Given the description of an element on the screen output the (x, y) to click on. 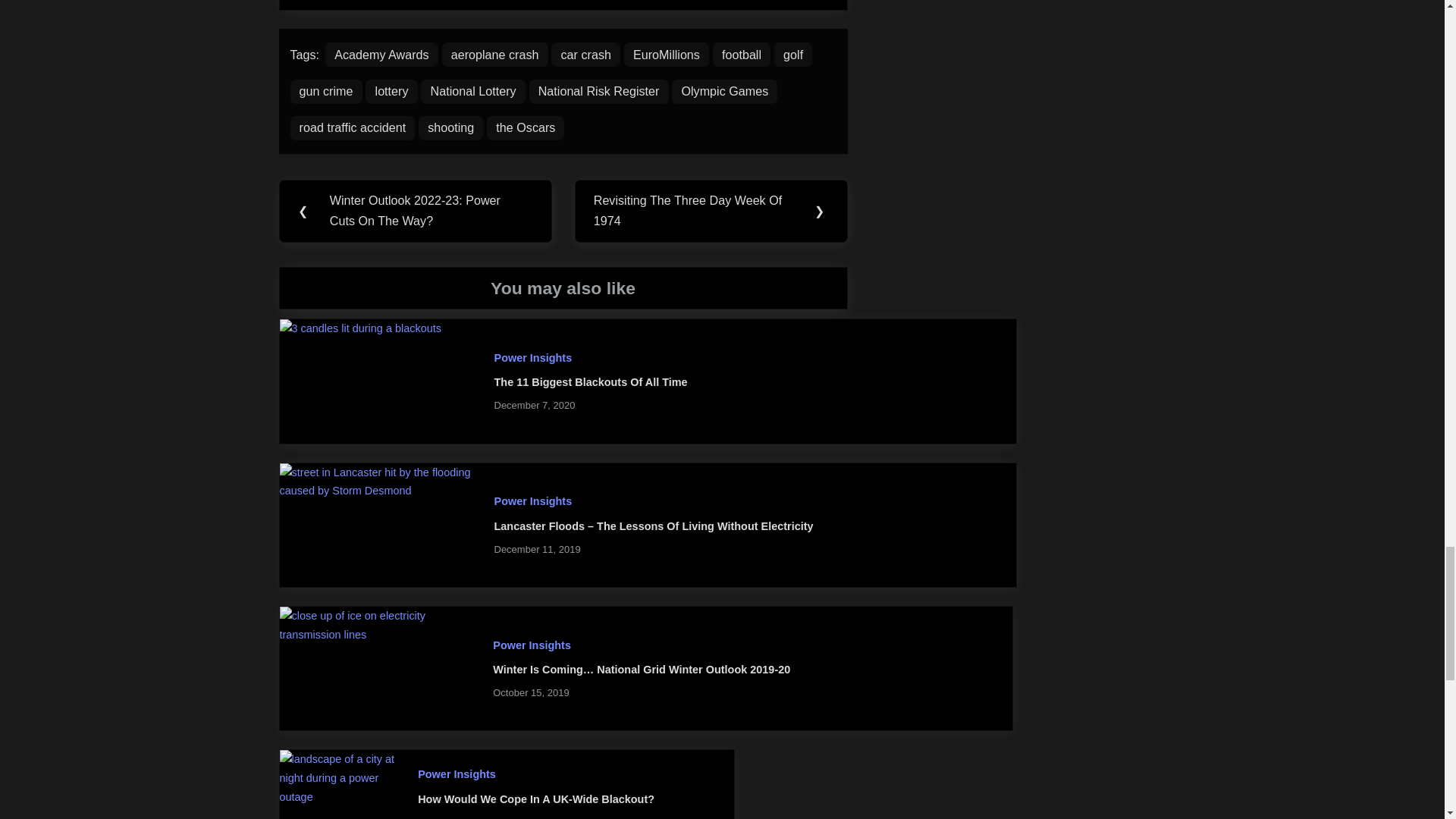
gun crime (325, 91)
Power Insights (533, 500)
football (741, 54)
road traffic accident (351, 128)
Academy Awards (381, 54)
The 11 Biggest Blackouts Of All Time (591, 381)
National Lottery (472, 91)
Power Insights (456, 774)
National Risk Register (598, 91)
Olympic Games (724, 91)
